Given the description of an element on the screen output the (x, y) to click on. 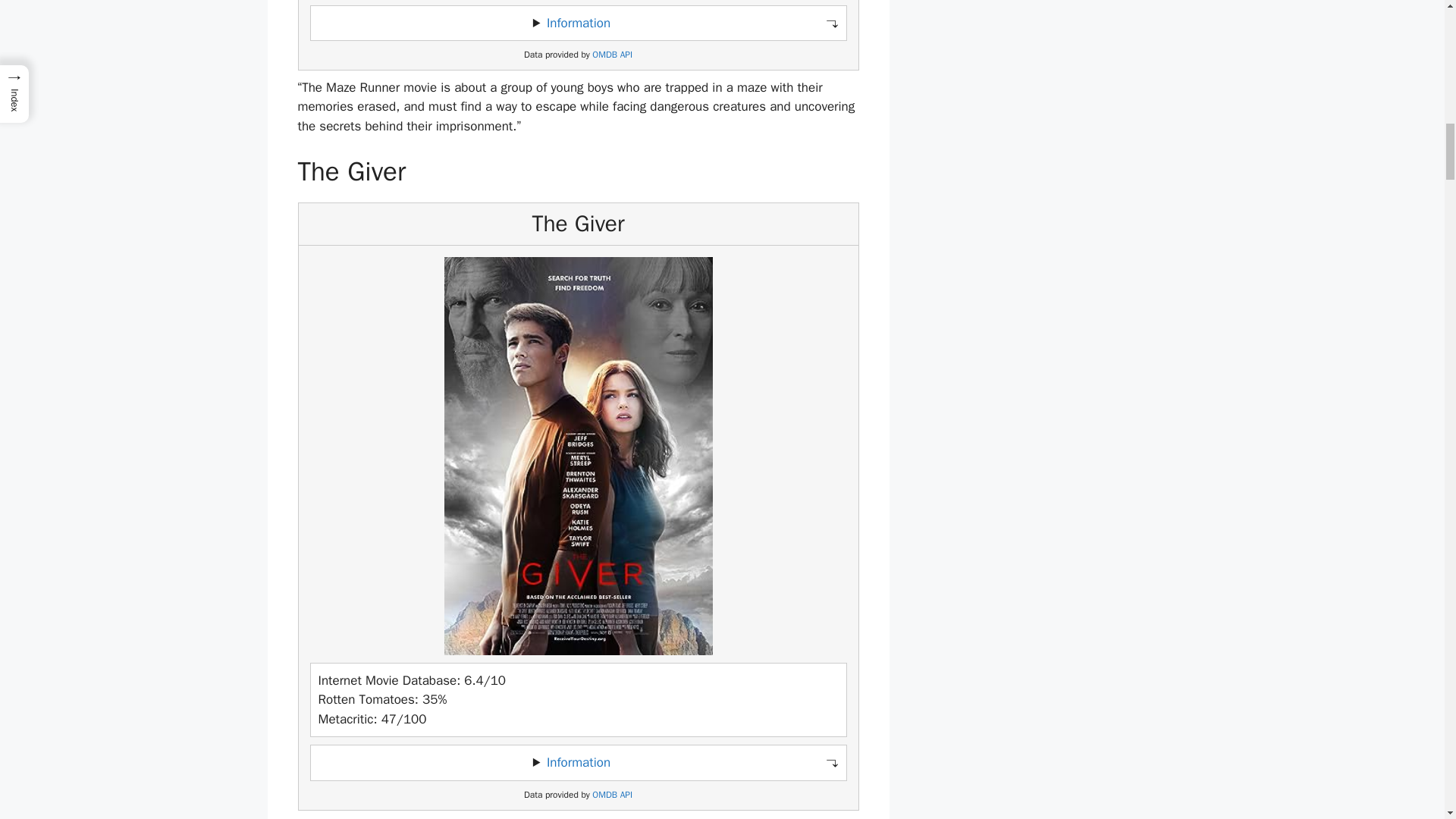
OMDB API (611, 794)
Open Movie Database API (611, 54)
Open Movie Database API (611, 794)
OMDB API (611, 54)
Information (578, 23)
Toggle information (578, 22)
Toggle information (578, 762)
Information (578, 762)
